Given the description of an element on the screen output the (x, y) to click on. 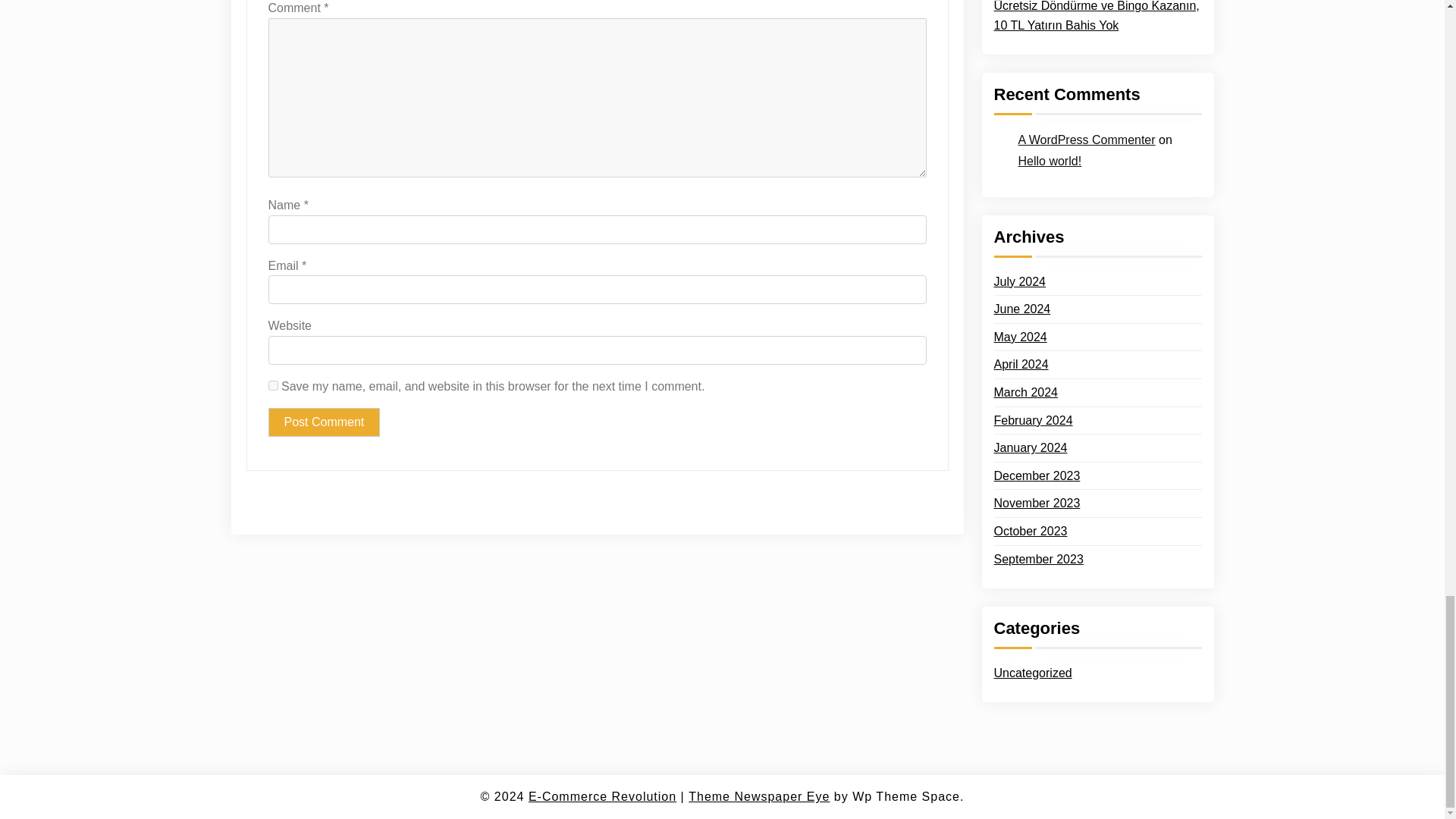
Post Comment (323, 421)
Post Comment (323, 421)
yes (272, 385)
